Given the description of an element on the screen output the (x, y) to click on. 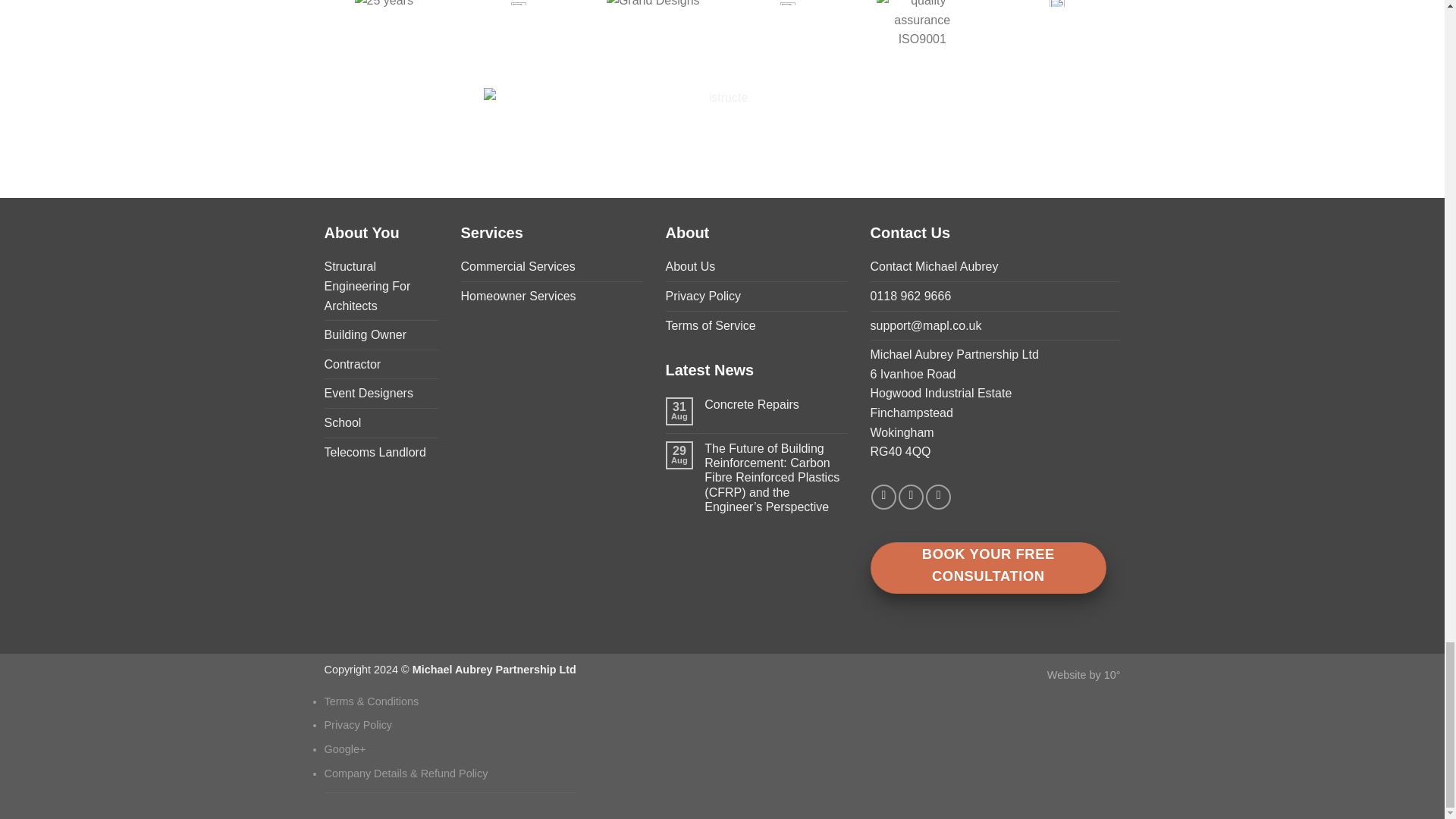
Follow on Facebook (883, 496)
Concrete Repairs (775, 404)
Follow on Twitter (910, 496)
Follow on LinkedIn (938, 496)
